Given the description of an element on the screen output the (x, y) to click on. 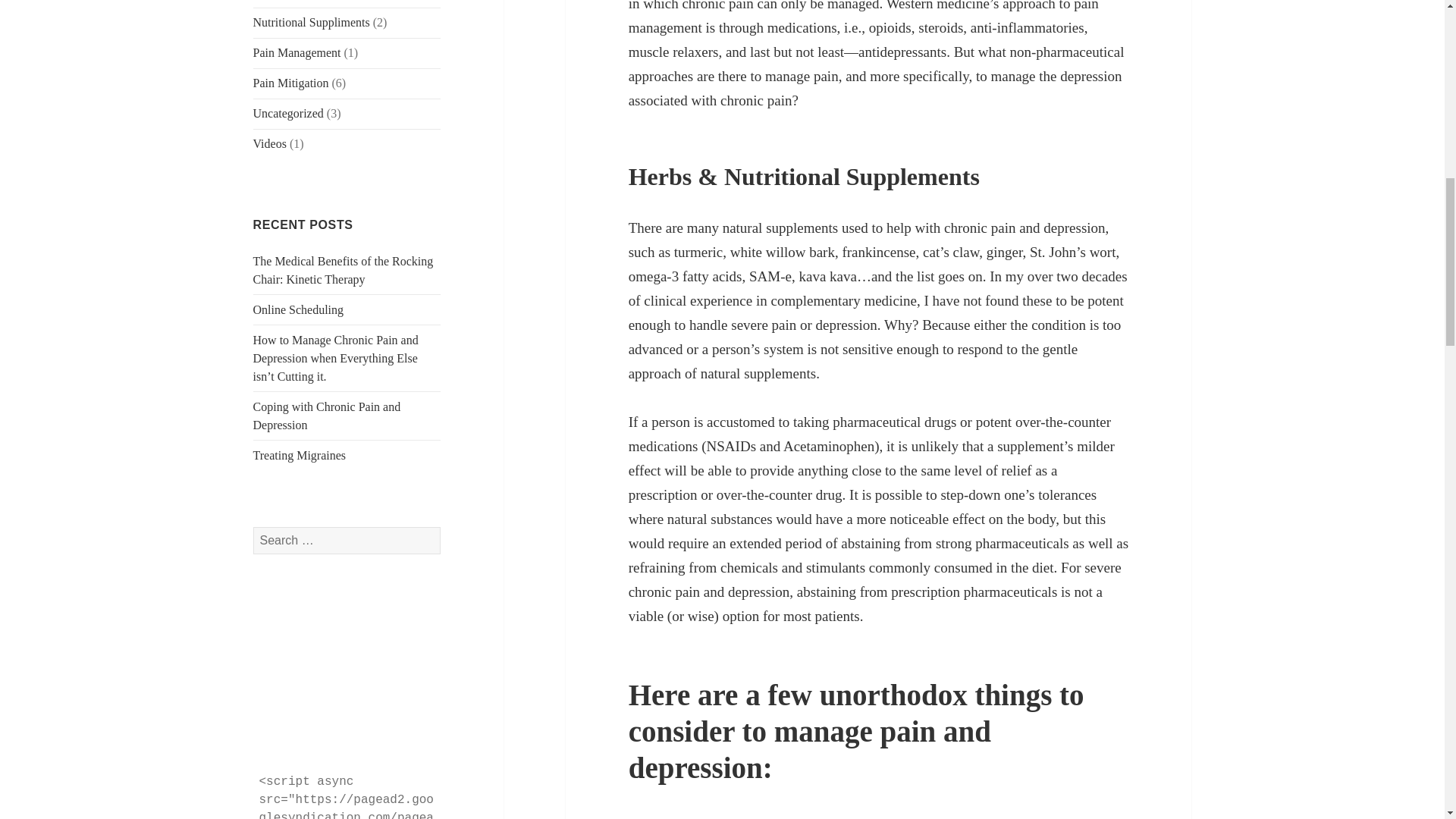
Treating Migraines (299, 454)
The Medical Benefits of the Rocking Chair: Kinetic Therapy (343, 269)
Pain Management (296, 51)
Nutritional Suppliments (311, 21)
Uncategorized (288, 113)
Online Scheduling (298, 309)
Coping with Chronic Pain and Depression (327, 415)
